Given the description of an element on the screen output the (x, y) to click on. 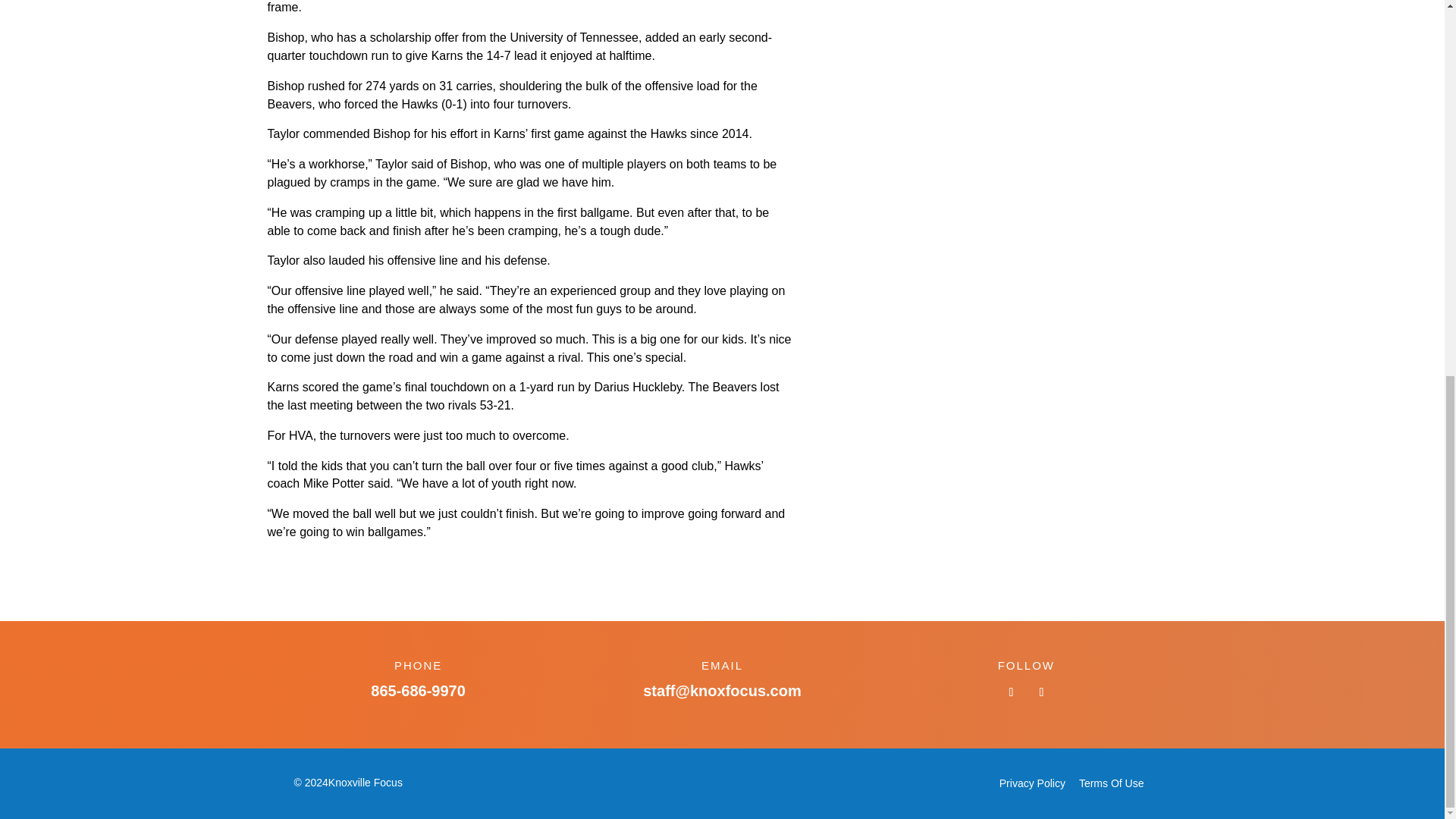
Follow on Facebook (1010, 692)
Follow on X (1040, 692)
